Given the description of an element on the screen output the (x, y) to click on. 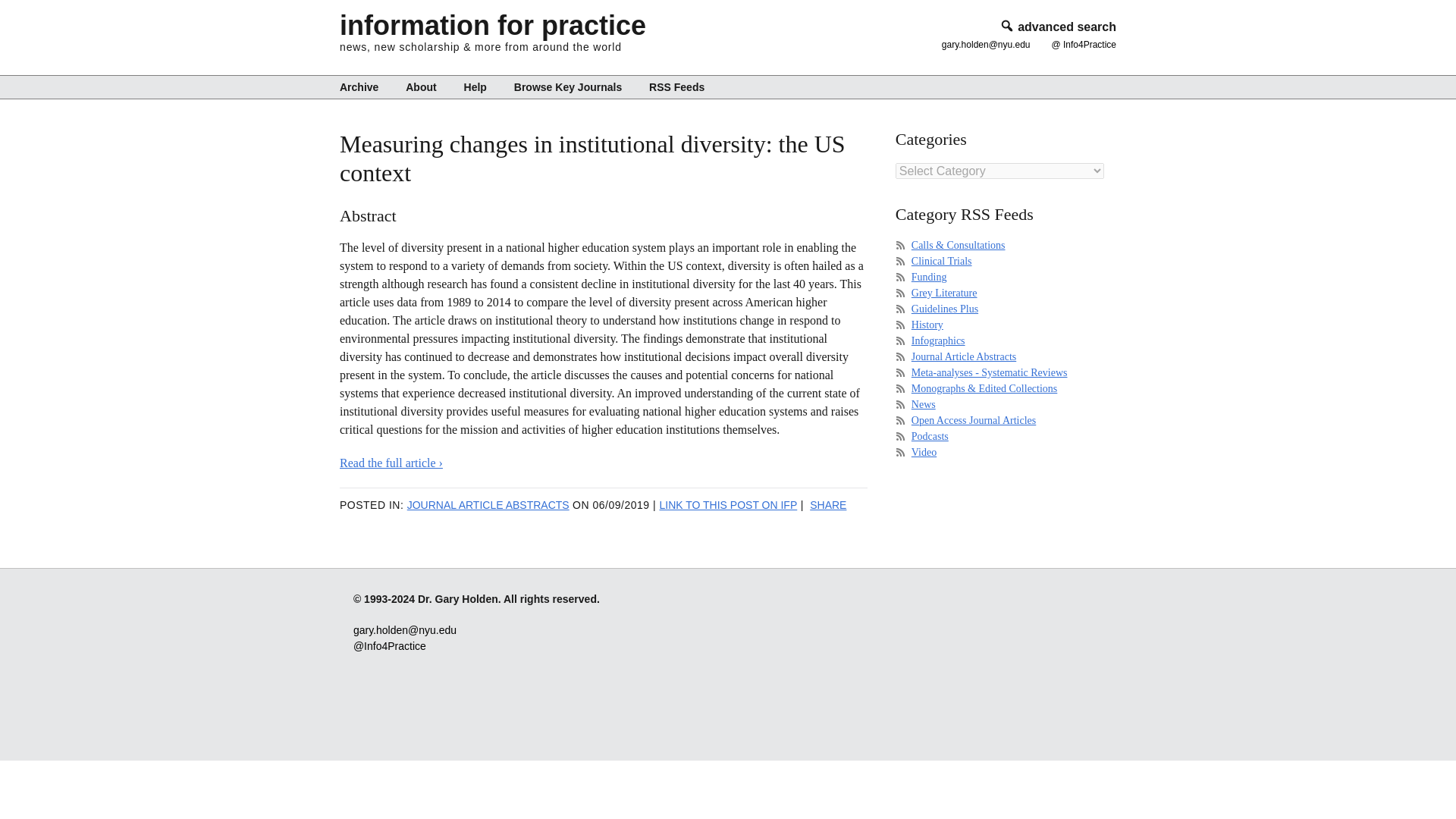
Meta-analyses - Systematic Reviews (989, 372)
Journal Article Abstracts (963, 356)
Video (923, 451)
Open Access Journal Articles (973, 419)
About (420, 87)
Grey Literature (943, 292)
Podcasts (930, 436)
Help (475, 87)
LINK TO THIS POST ON IFP (727, 504)
RSS Feeds (670, 87)
JOURNAL ARTICLE ABSTRACTS (488, 504)
Browse Key Journals (567, 87)
Clinical Trials (941, 260)
Infographics (938, 340)
